Given the description of an element on the screen output the (x, y) to click on. 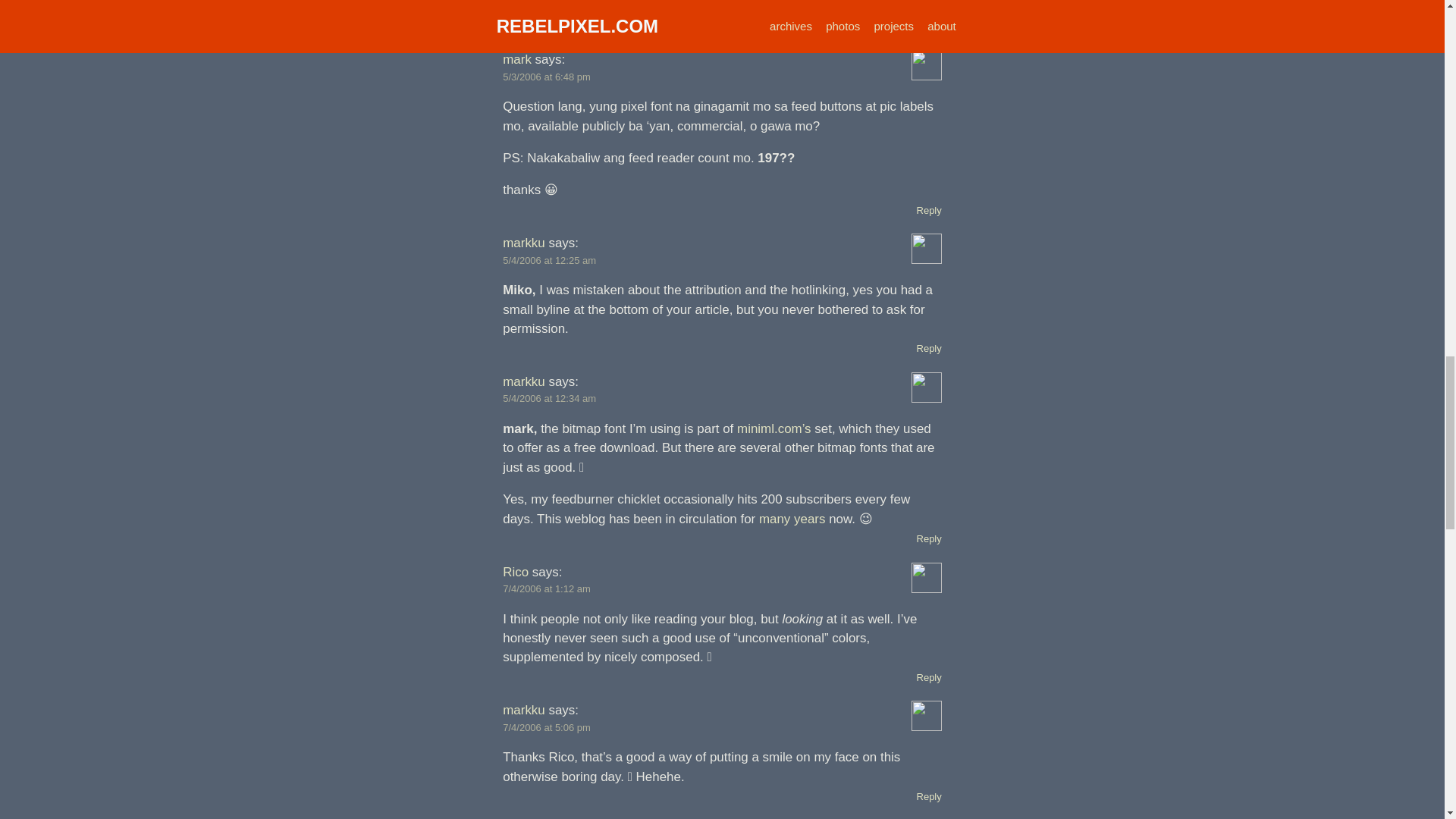
many years (791, 518)
Reply (929, 26)
Reply (929, 348)
markku (523, 381)
mark (516, 59)
Reply (929, 210)
Reply (929, 538)
Rico (515, 572)
markku (523, 242)
